Given the description of an element on the screen output the (x, y) to click on. 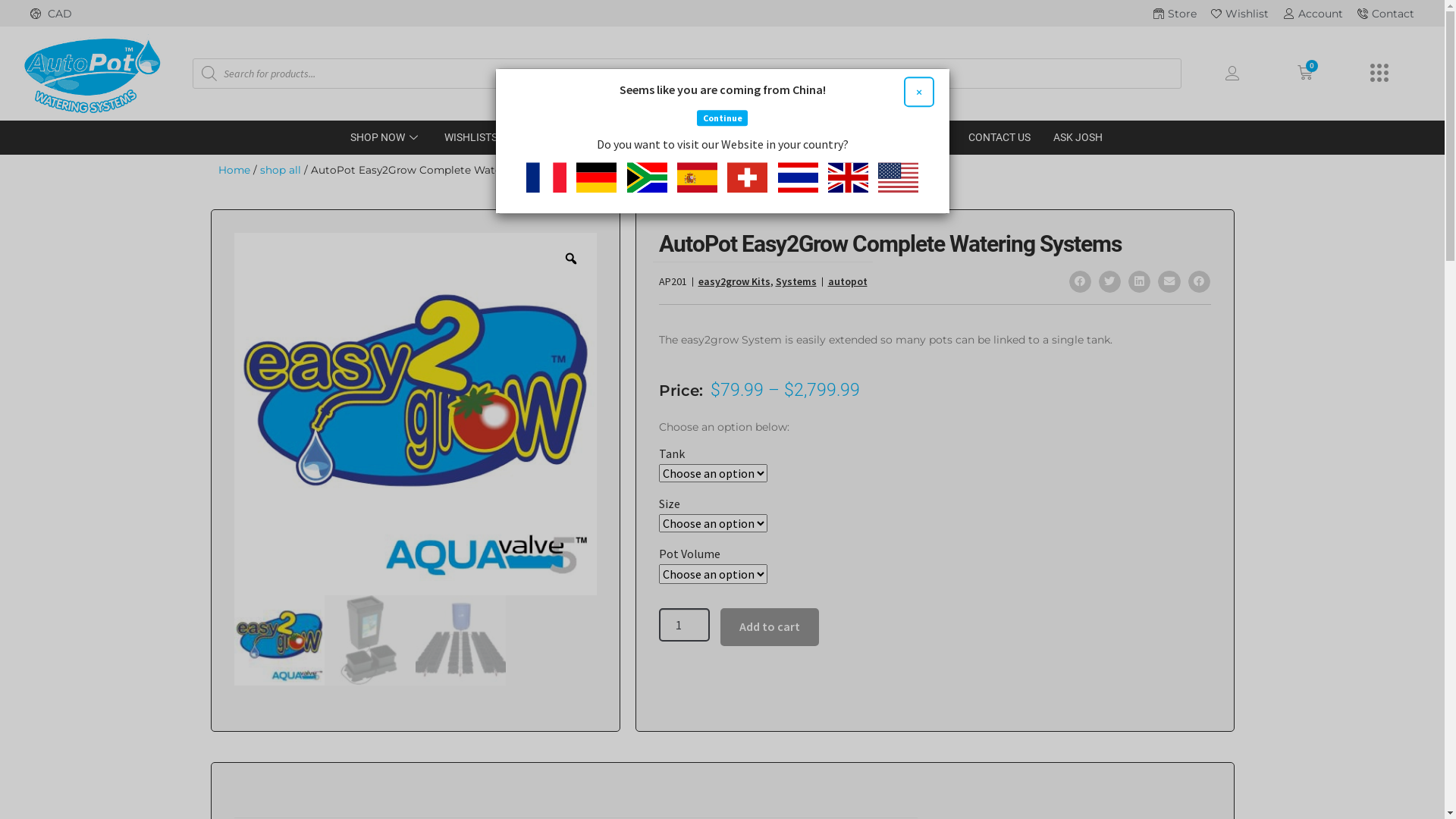
VIDEOS Element type: text (678, 137)
GreenPlanet-Wholesale-AutoPot-easy2grow-AquaValve5-1.jpg Element type: hover (414, 413)
CONTACT US Element type: text (999, 137)
WISHLISTS Element type: text (478, 137)
autopot Element type: text (847, 281)
Continue Element type: text (721, 118)
CATALOGUE Element type: text (834, 137)
Account Element type: text (1311, 13)
easy2grow Kits Element type: text (733, 281)
BROCHURES Element type: text (750, 137)
E2G-Black.jpg Element type: hover (369, 640)
Home Element type: text (234, 169)
0 Element type: text (1304, 72)
Contact Element type: text (1384, 13)
SHOP NOW Element type: text (385, 137)
GreenPlanet-Wholesale-AutoPot-easy2grow-AquaValve5-1.jpg Element type: hover (278, 640)
FIND NEAREST SHOP Element type: text (586, 137)
Add to cart Element type: text (769, 627)
RESOURCES Element type: text (916, 137)
Store Element type: text (1173, 13)
Systems Element type: text (795, 281)
shop all Element type: text (279, 169)
CAD Element type: text (376, 13)
ASK JOSH Element type: text (1077, 137)
Wishlist Element type: text (1238, 13)
Autopot-Easy2GrowKit-60-2.jpg Element type: hover (460, 640)
